Given the description of an element on the screen output the (x, y) to click on. 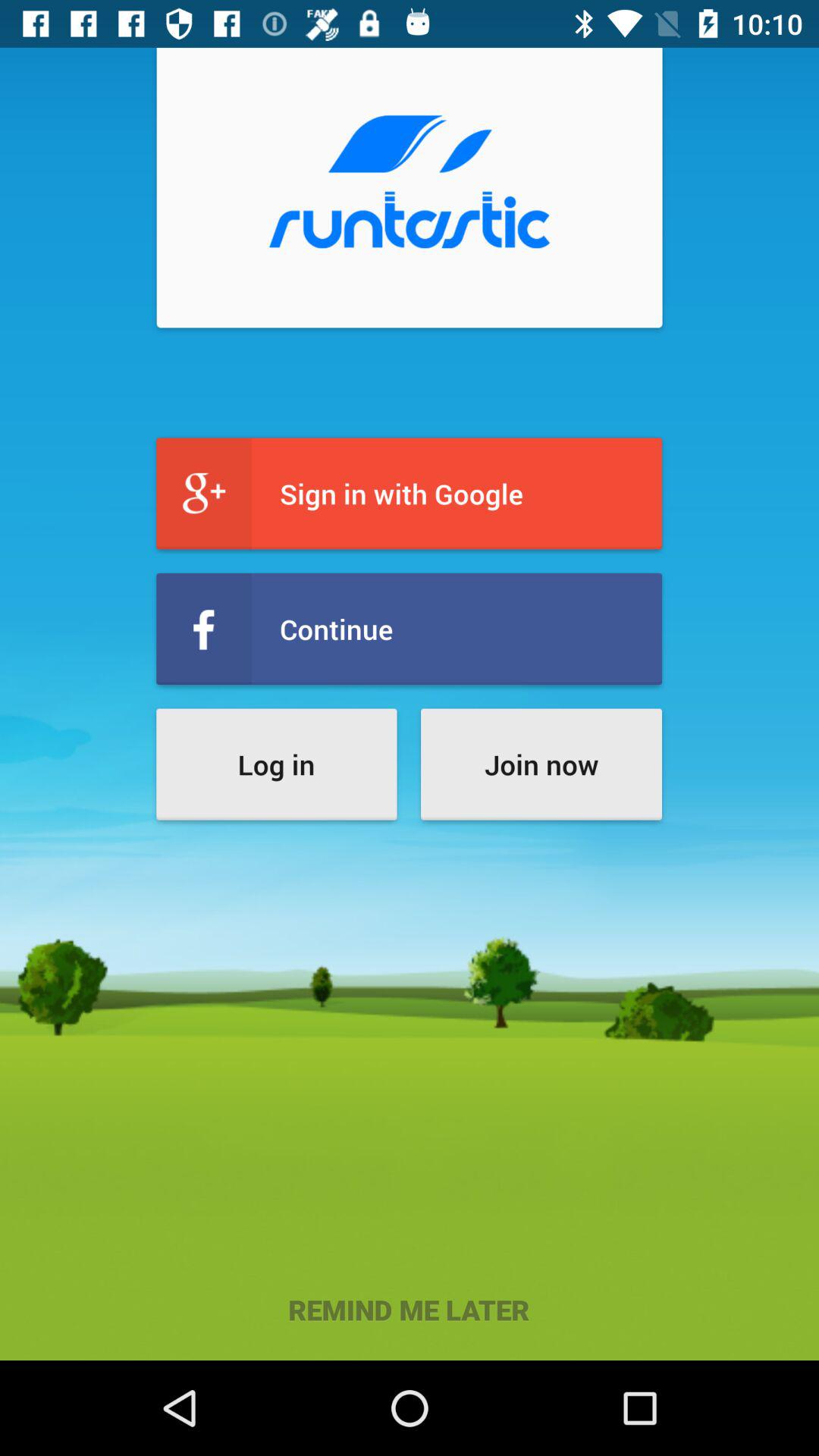
press icon below the sign in with item (409, 628)
